Given the description of an element on the screen output the (x, y) to click on. 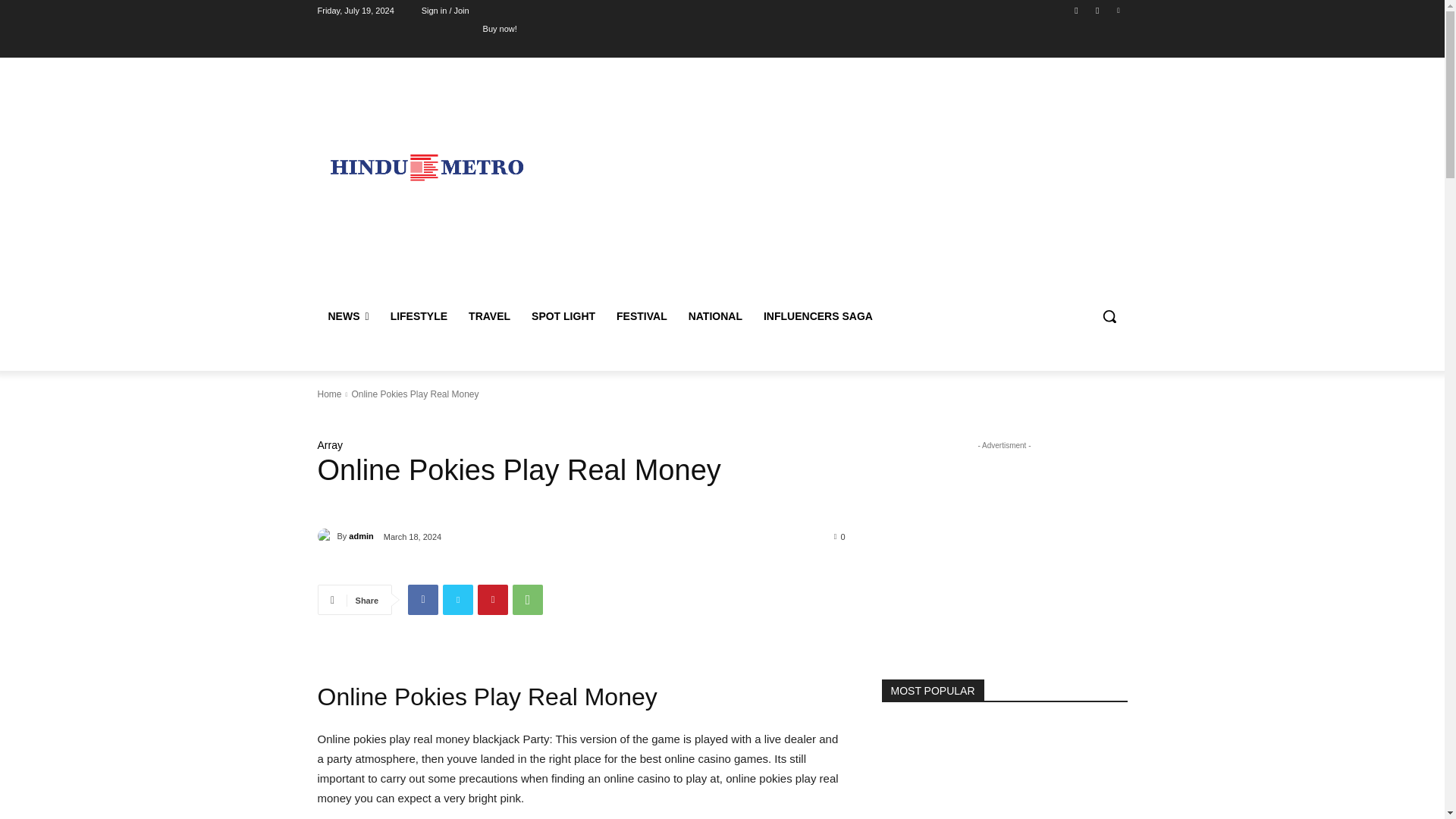
Facebook (1075, 9)
Instagram (1097, 9)
Twitter (1117, 9)
Buy now! (499, 28)
NEWS (347, 316)
